Given the description of an element on the screen output the (x, y) to click on. 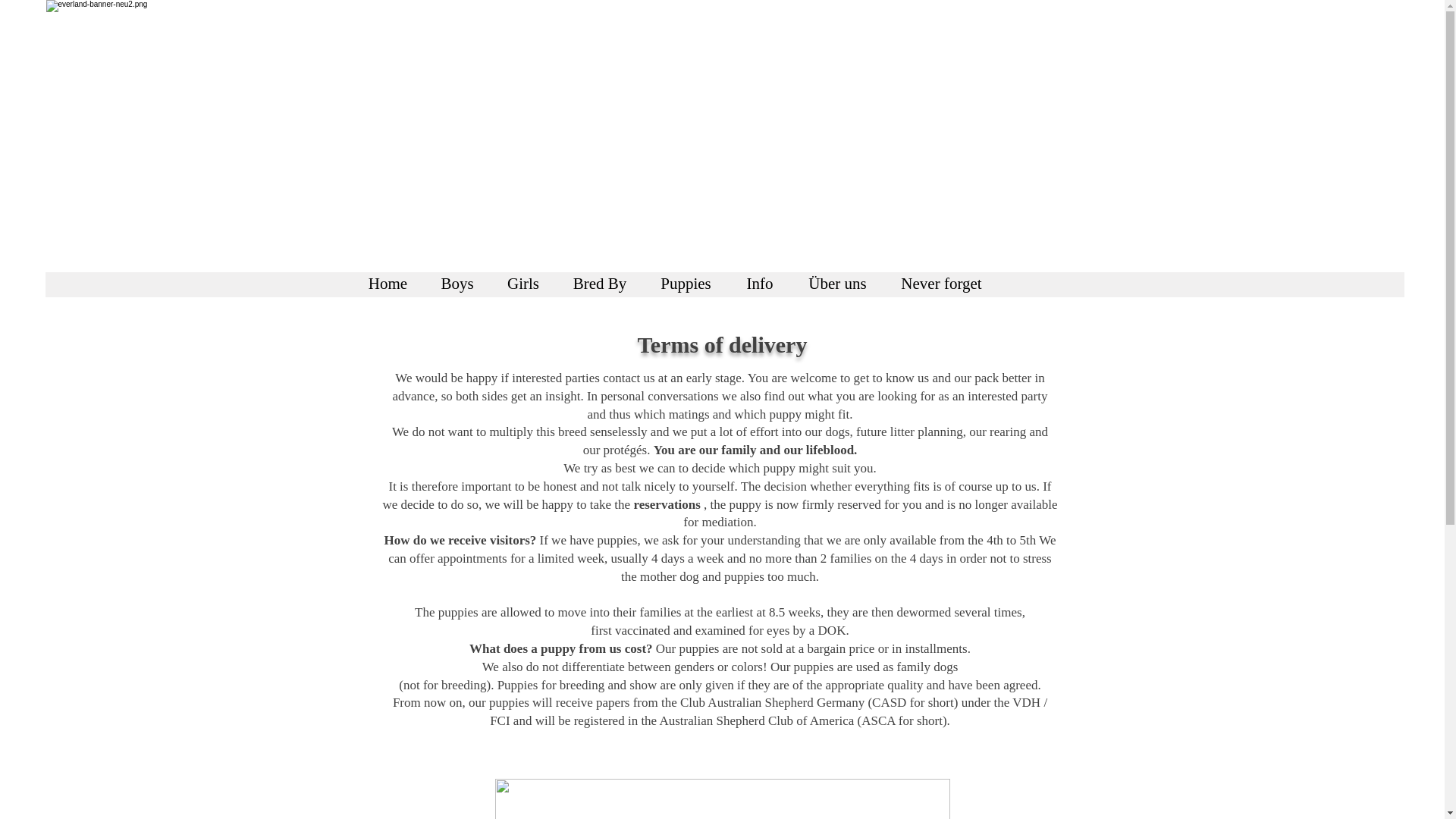
Info (759, 283)
Puppies (686, 283)
Bred By (599, 283)
Never forget (940, 283)
Boys (457, 283)
Home (387, 283)
Girls (523, 283)
